Given the description of an element on the screen output the (x, y) to click on. 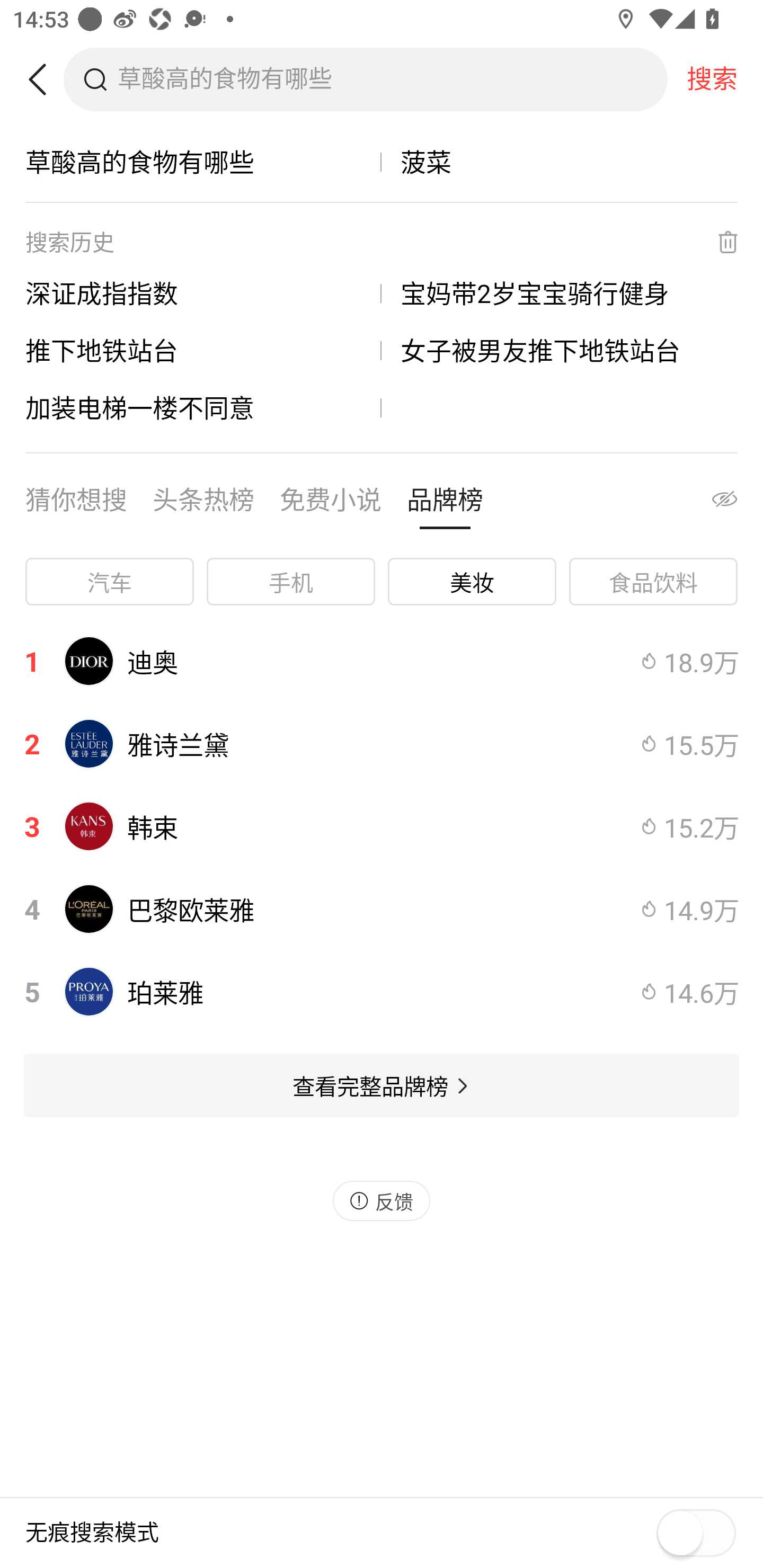
搜索框，草酸高的食物有哪些 (392, 79)
搜索 (711, 79)
返回 (44, 79)
草酸高的食物有哪些，链接, 草酸高的食物有哪些 (203, 162)
菠菜，链接, 菠菜 (559, 162)
删除搜索历史 (716, 242)
深证成指指数，链接, 深证成指指数 (203, 292)
宝妈带2岁宝宝骑行健身，链接, 宝妈带2岁宝宝骑行健身 (559, 292)
推下地铁站台，链接, 推下地铁站台 (203, 350)
女子被男友推下地铁站台，链接, 女子被男友推下地铁站台 (559, 350)
加装电梯一楼不同意，链接, 加装电梯一楼不同意 (203, 407)
猜你想搜 按钮 (76, 503)
头条热榜 按钮 (203, 503)
免费小说 按钮 (330, 503)
品牌榜 按钮 已选中 (444, 503)
隐藏全部推荐词内容 按钮 (706, 503)
汽车,按钮 (109, 581)
手机,按钮 (290, 581)
美妆,选中 (471, 581)
食品饮料,按钮 (653, 581)
1,迪奥热度值,18.9万 (381, 660)
2,雅诗兰黛热度值,15.5万 (381, 743)
3,韩束热度值,15.2万 (381, 826)
4,巴黎欧莱雅热度值,14.9万 (381, 909)
5,珀莱雅热度值,14.6万 (381, 991)
查看完整品牌榜 按钮 (381, 1084)
反馈, 按钮 (381, 1200)
